Given the description of an element on the screen output the (x, y) to click on. 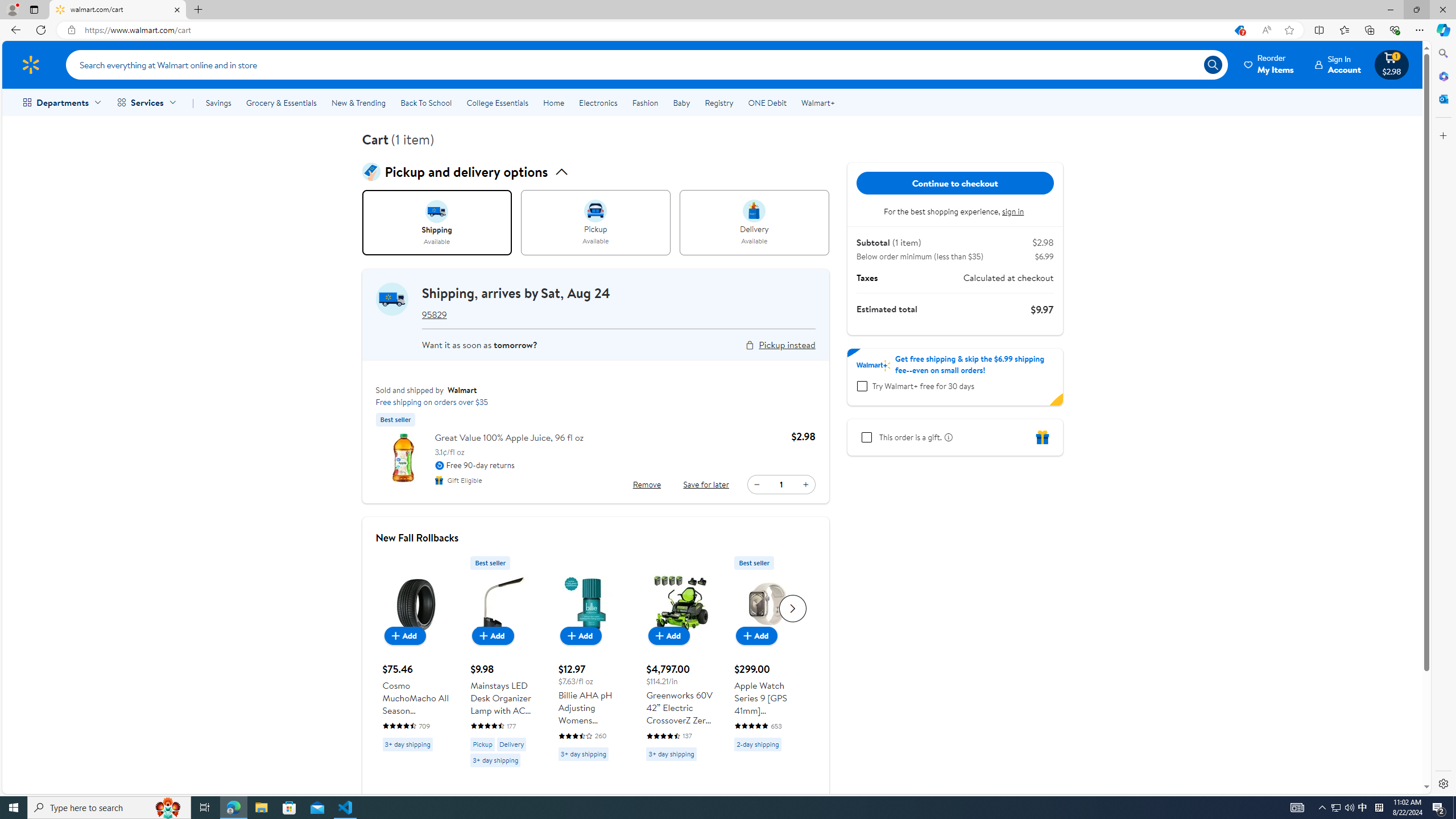
Cosmo MuchoMacho All Season P215/55R17 98W XL Passenger Tire (415, 653)
Cart contains 1 item Total Amount $2.98 (1391, 64)
Try Walmart+ free for 30 days (861, 385)
intent image for delivery (753, 210)
Search icon (1212, 64)
fulfillment logo (391, 298)
Back To School (425, 102)
Registry (718, 102)
Next slide for horizontalScrollerRecommendations list (792, 608)
Walmart Plus (873, 365)
New & Trending (358, 102)
intent image for shipping (436, 210)
